Given the description of an element on the screen output the (x, y) to click on. 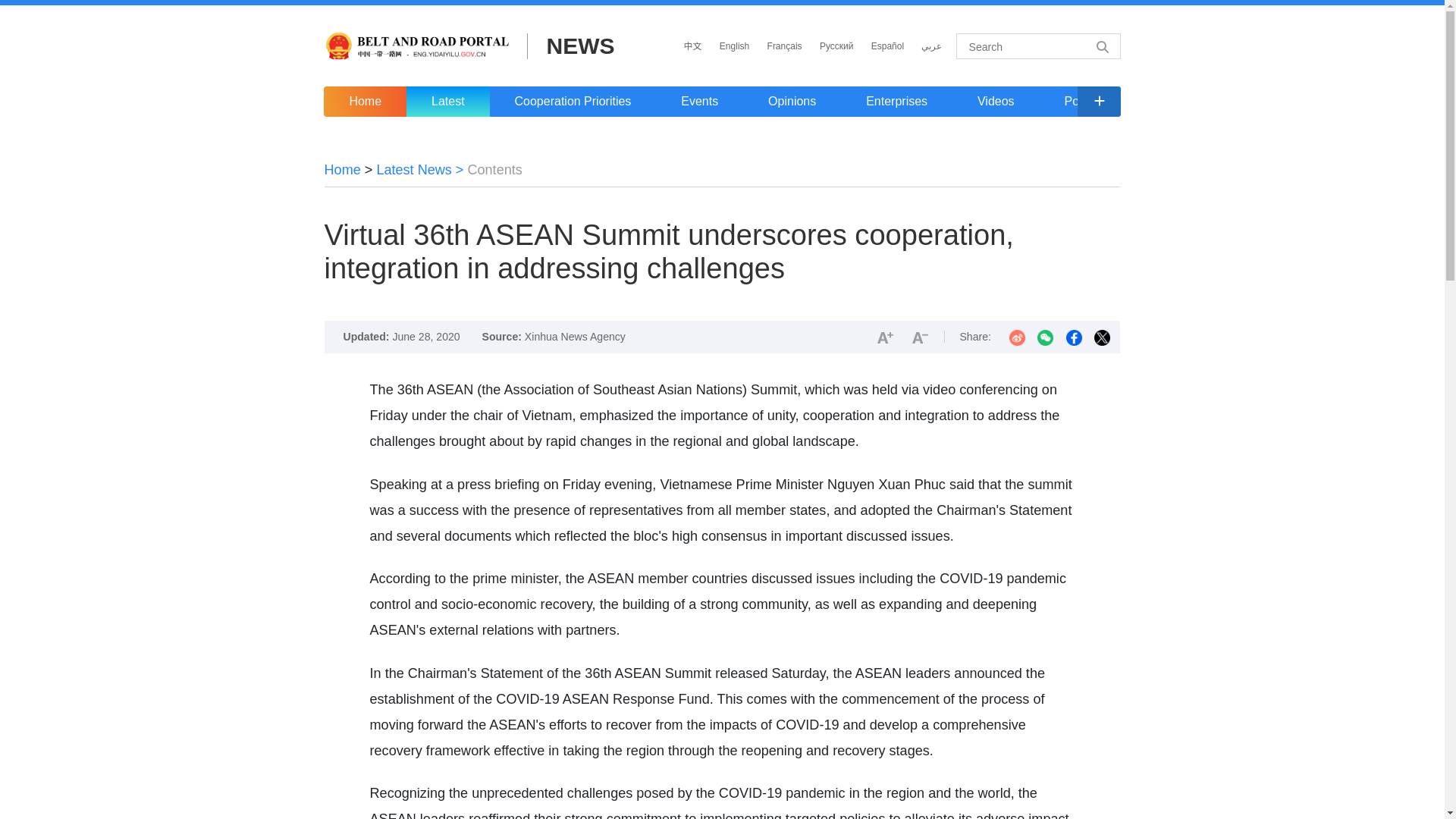
Policy Coordination (1116, 101)
Events (699, 101)
Enterprises (896, 101)
Facilities Connectivity (1276, 101)
Cooperation Priorities (572, 101)
English (734, 46)
Home (364, 101)
Latest (447, 101)
Videos (995, 101)
Home (342, 169)
Opinions (791, 101)
